Given the description of an element on the screen output the (x, y) to click on. 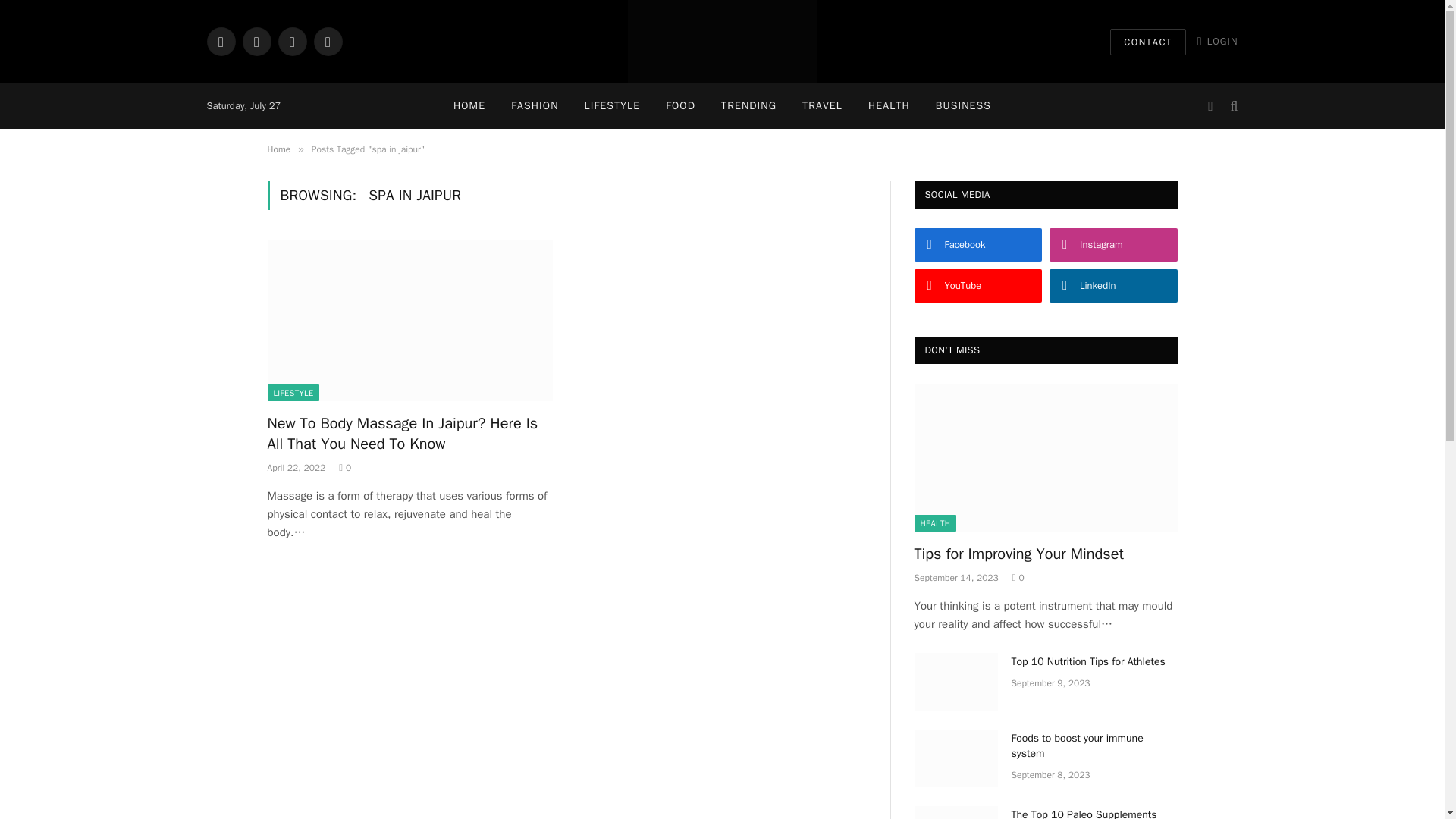
TRAVEL (822, 105)
FASHION (533, 105)
HEALTH (889, 105)
Facebook (978, 244)
FOOD (679, 105)
Tips for Improving Your Mindset (1045, 457)
Top 10 Nutrition Tips for Athletes (955, 681)
The Top 10 Paleo Supplements (955, 812)
Instagram (256, 41)
Switch to Dark Design - easier on eyes. (1209, 106)
CONTACT (1147, 41)
LIFESTYLE (612, 105)
0 (344, 467)
